Given the description of an element on the screen output the (x, y) to click on. 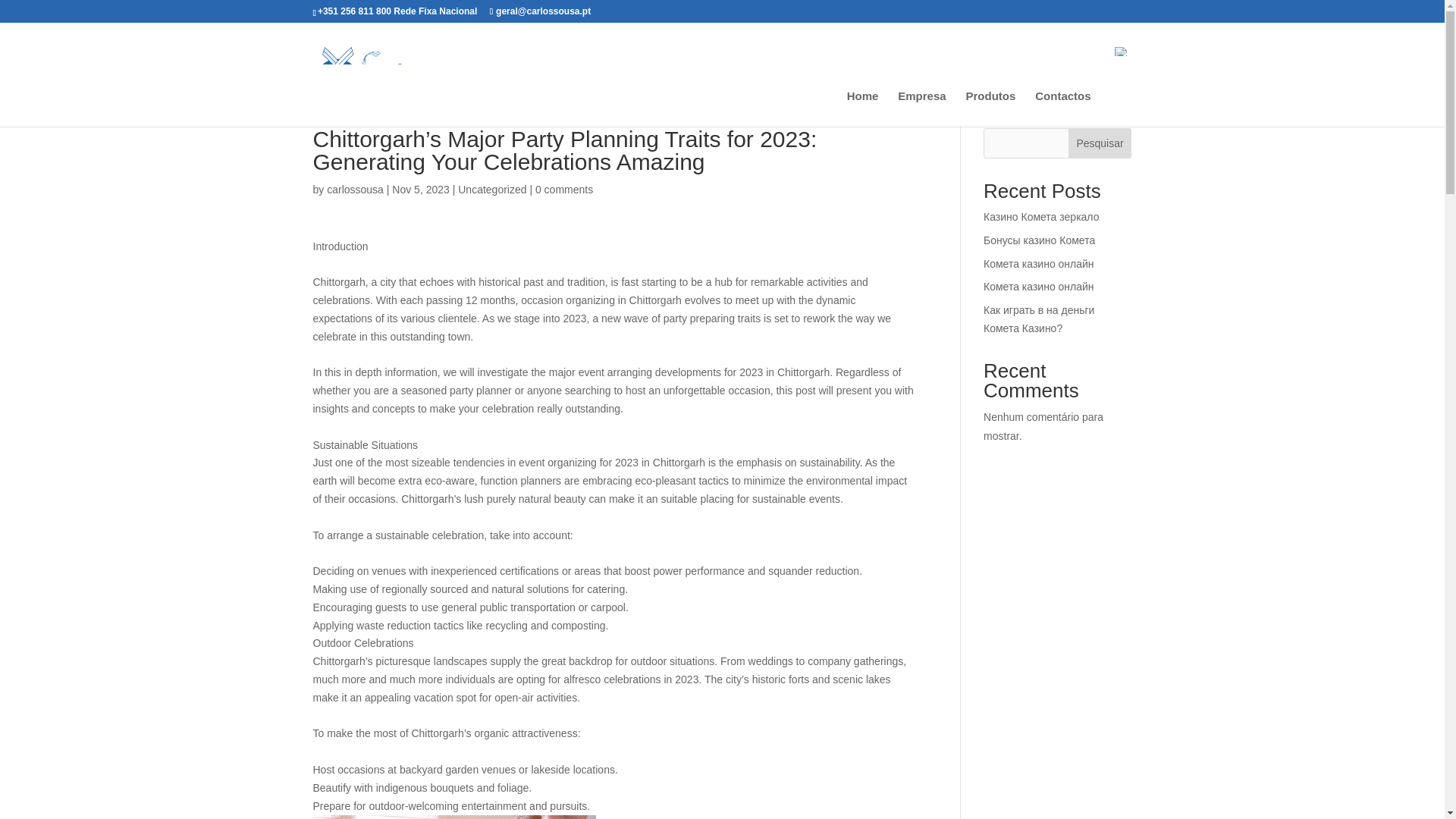
Produtos (991, 108)
Pesquisar (1100, 142)
English (1121, 51)
0 comments (563, 189)
Posts by carlossousa (355, 189)
Uncategorized (491, 189)
carlossousa (355, 189)
Contactos (1062, 108)
Empresa (921, 108)
Home (863, 108)
